Given the description of an element on the screen output the (x, y) to click on. 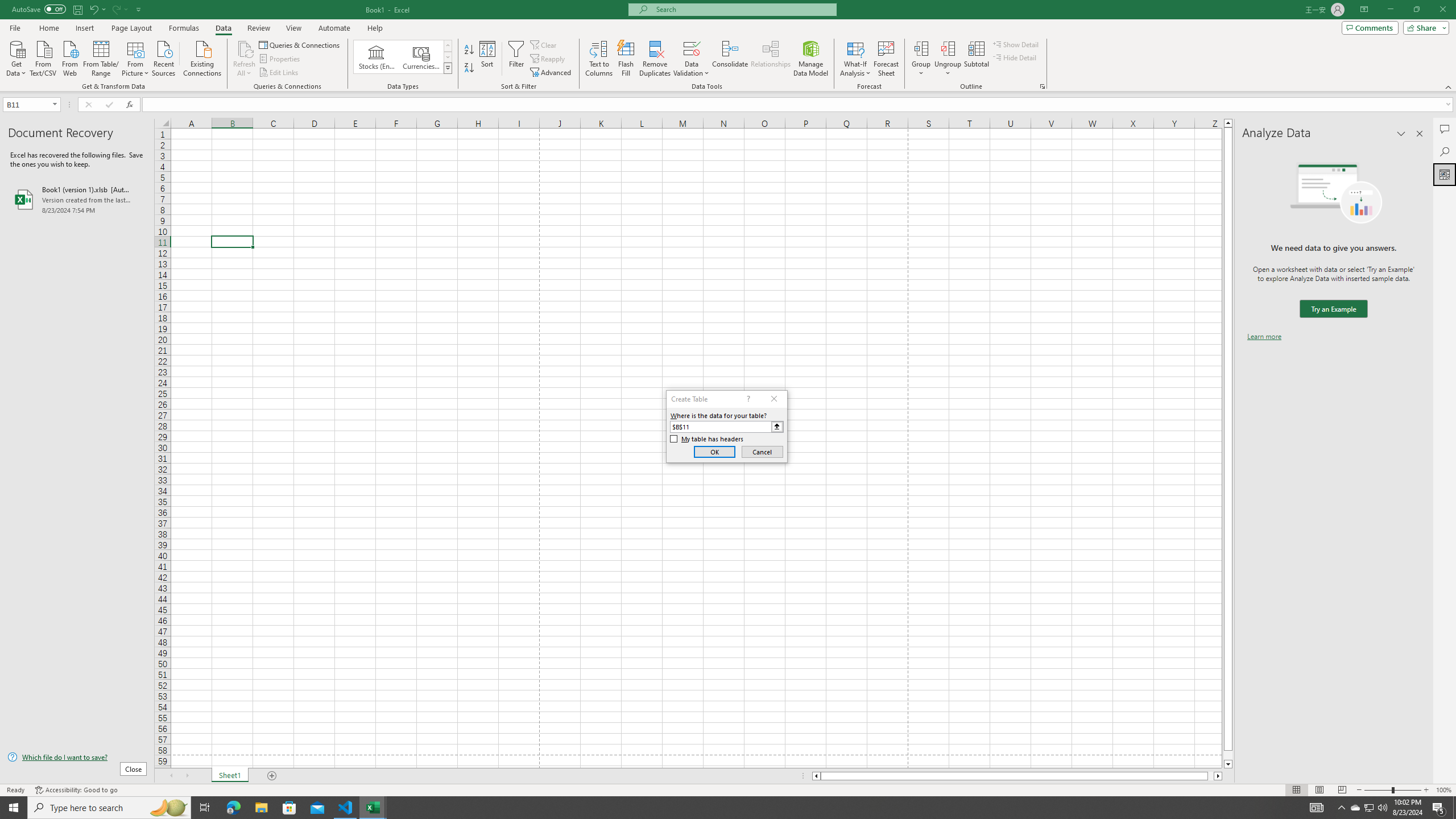
Formula Bar (799, 104)
Row Down (448, 56)
Currencies (English) (420, 56)
Class: NetUIImage (447, 68)
Remove Duplicates (654, 58)
Text to Columns... (598, 58)
Edit Links (279, 72)
